Given the description of an element on the screen output the (x, y) to click on. 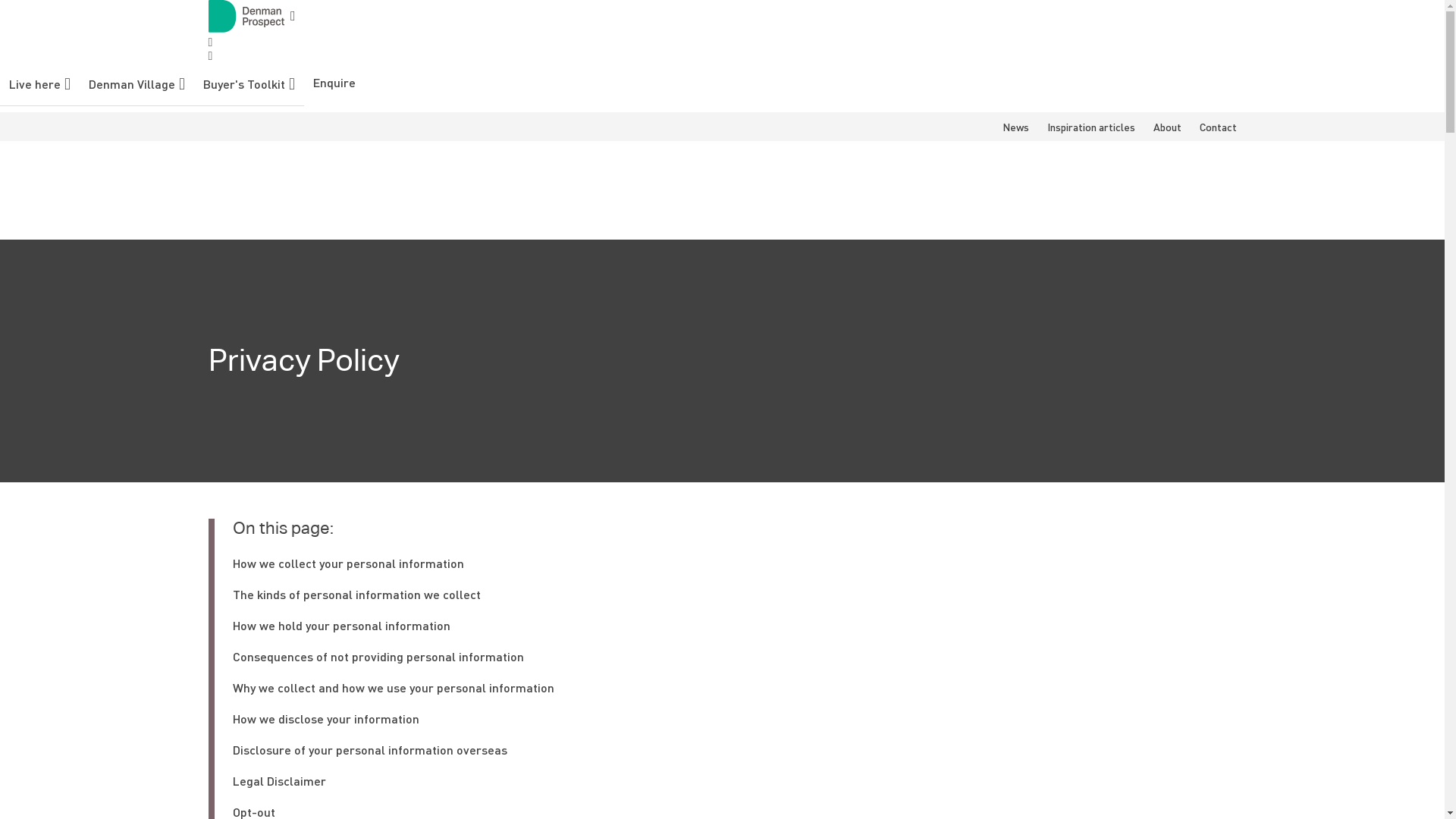
Live here Element type: text (39, 84)
Enquire Element type: text (334, 82)
Denman Village Element type: text (136, 84)
Inspiration articles Element type: text (1090, 126)
The kinds of personal information we collect Element type: text (356, 594)
Buyer's Toolkit Element type: text (248, 84)
How we collect your personal information Element type: text (347, 563)
Disclosure of your personal information overseas Element type: text (369, 749)
Legal Disclaimer Element type: text (278, 780)
News Element type: text (1015, 126)
Consequences of not providing personal information Element type: text (377, 656)
Open search modal Element type: text (209, 42)
Why we collect and how we use your personal information Element type: text (392, 687)
How we disclose your information Element type: text (325, 718)
Menu Element type: text (209, 55)
About Element type: text (1166, 126)
How we hold your personal information Element type: text (340, 625)
Contact Element type: text (1217, 126)
